Given the description of an element on the screen output the (x, y) to click on. 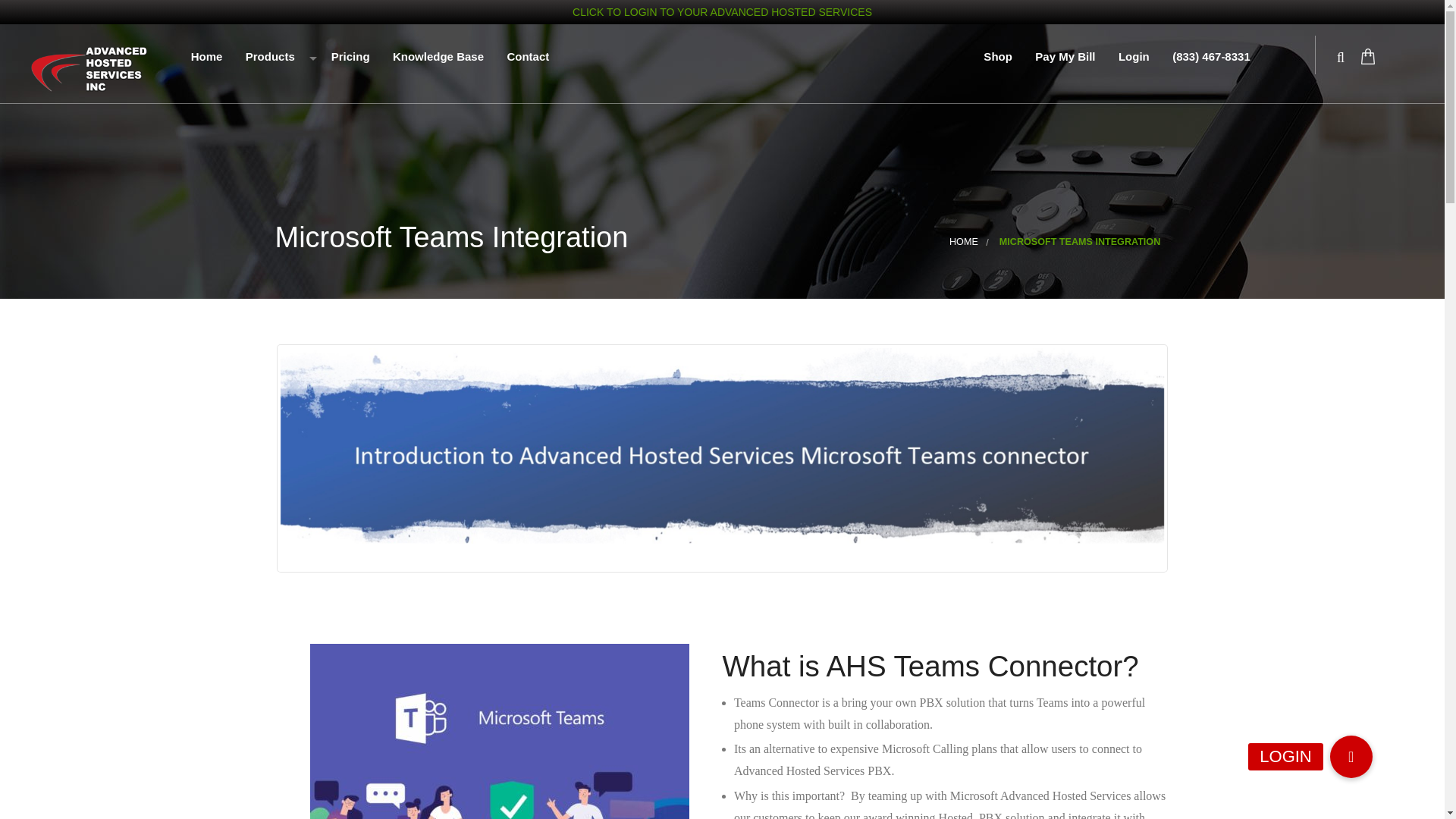
Call Center (326, 233)
Fax Services (326, 165)
Pricing (347, 59)
HOME (963, 241)
Meeting Manager (326, 131)
Shop (996, 59)
Products (274, 59)
Internet Service (326, 199)
Knowledge Base (436, 59)
Home (204, 59)
CLICK TO LOGIN TO YOUR ADVANCED HOSTED SERVICES (722, 11)
Microsoft Teams Integration (326, 302)
Contact (526, 59)
Advanced Hosted Services (89, 68)
